Given the description of an element on the screen output the (x, y) to click on. 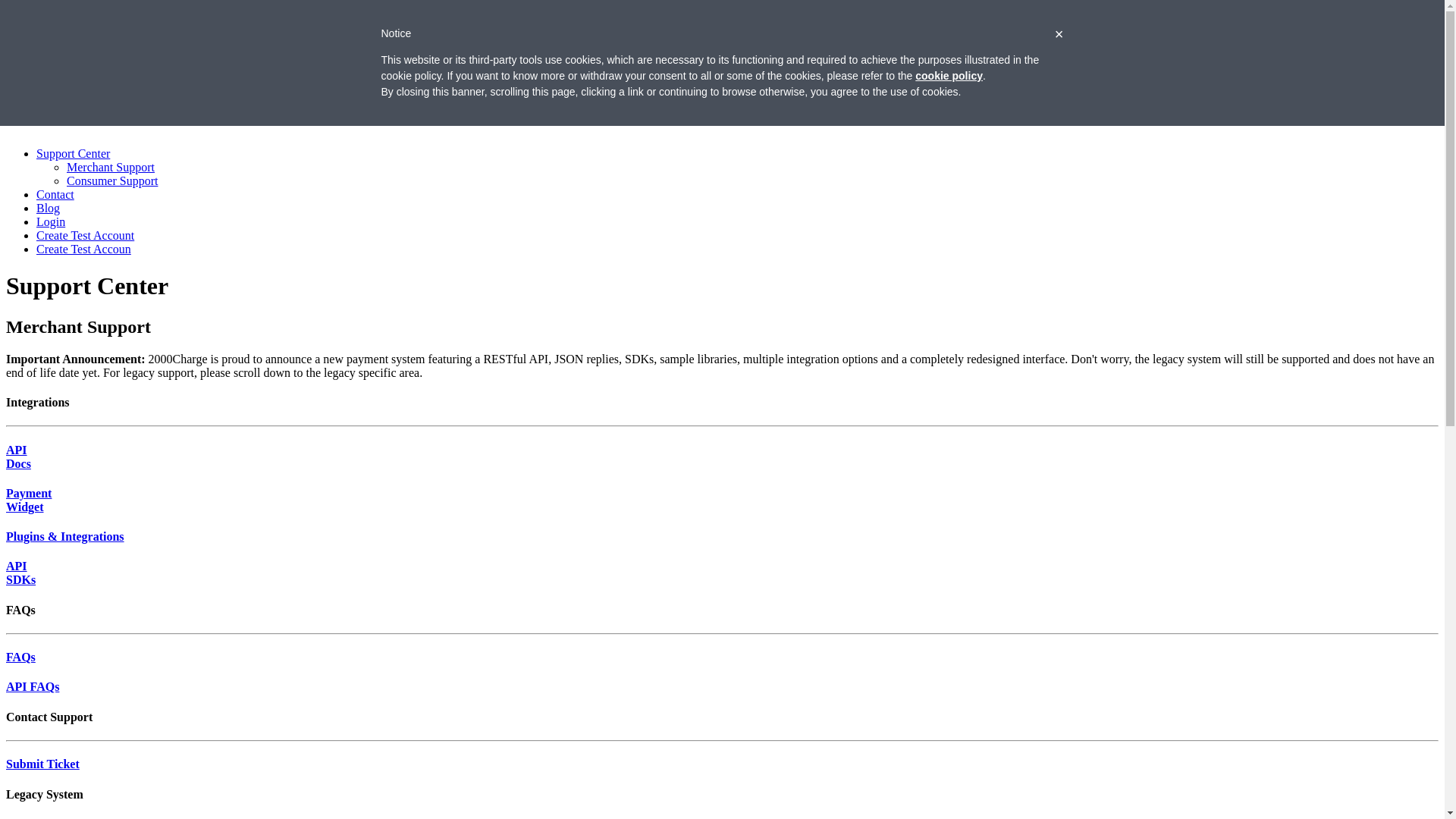
API FAQs Element type: text (32, 686)
FAQs Element type: text (20, 656)
API
SDKs Element type: text (20, 572)
Developers Element type: text (63, 59)
Payment
Widget Element type: text (28, 499)
Create Test Accoun Element type: text (83, 248)
SEPA Direct Debit Element type: text (81, 72)
Plugins & Integrations Element type: text (65, 536)
Submit Ticket Element type: text (42, 763)
API
Docs Element type: text (18, 456)
Create Test Account Element type: text (85, 86)
Login Element type: text (50, 100)
Support Center Element type: text (72, 153)
Create Test Account Element type: text (85, 235)
Payment Widget Element type: text (76, 45)
Login Element type: text (50, 221)
Contact Element type: text (55, 194)
Features Element type: text (56, 31)
Blog Element type: text (47, 207)
Consumer Support Element type: text (111, 180)
Merchant Support Element type: text (110, 166)
cookie policy Element type: text (948, 75)
Home Element type: text (50, 18)
